Given the description of an element on the screen output the (x, y) to click on. 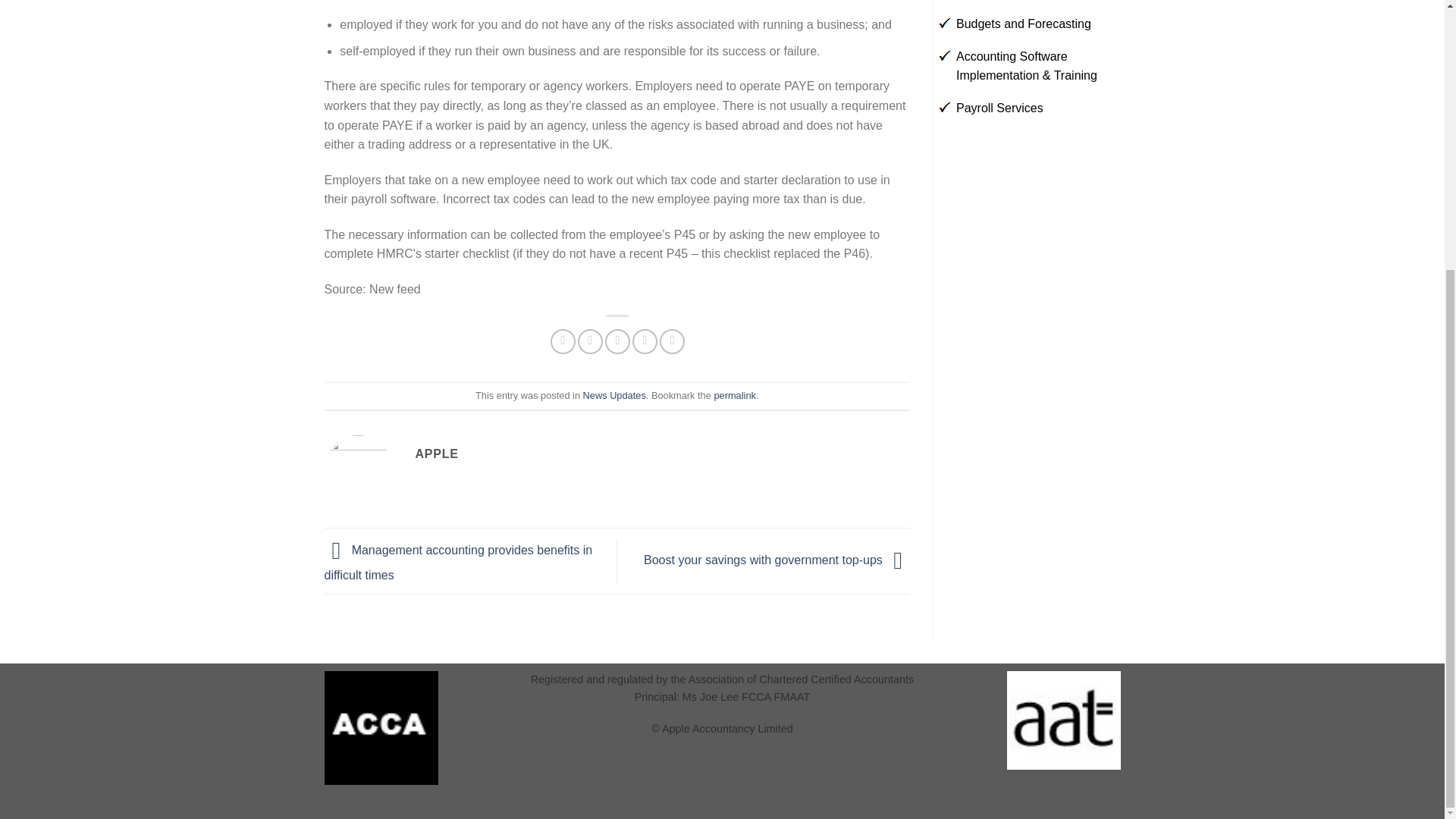
Payroll Services (999, 107)
Boost your savings with government top-ups (776, 559)
Management accounting provides benefits in difficult times (458, 562)
Permalink to Check if you need to pay someone through PAYE (734, 395)
Budgets and Forecasting (1023, 23)
News Updates (614, 395)
permalink (734, 395)
